Given the description of an element on the screen output the (x, y) to click on. 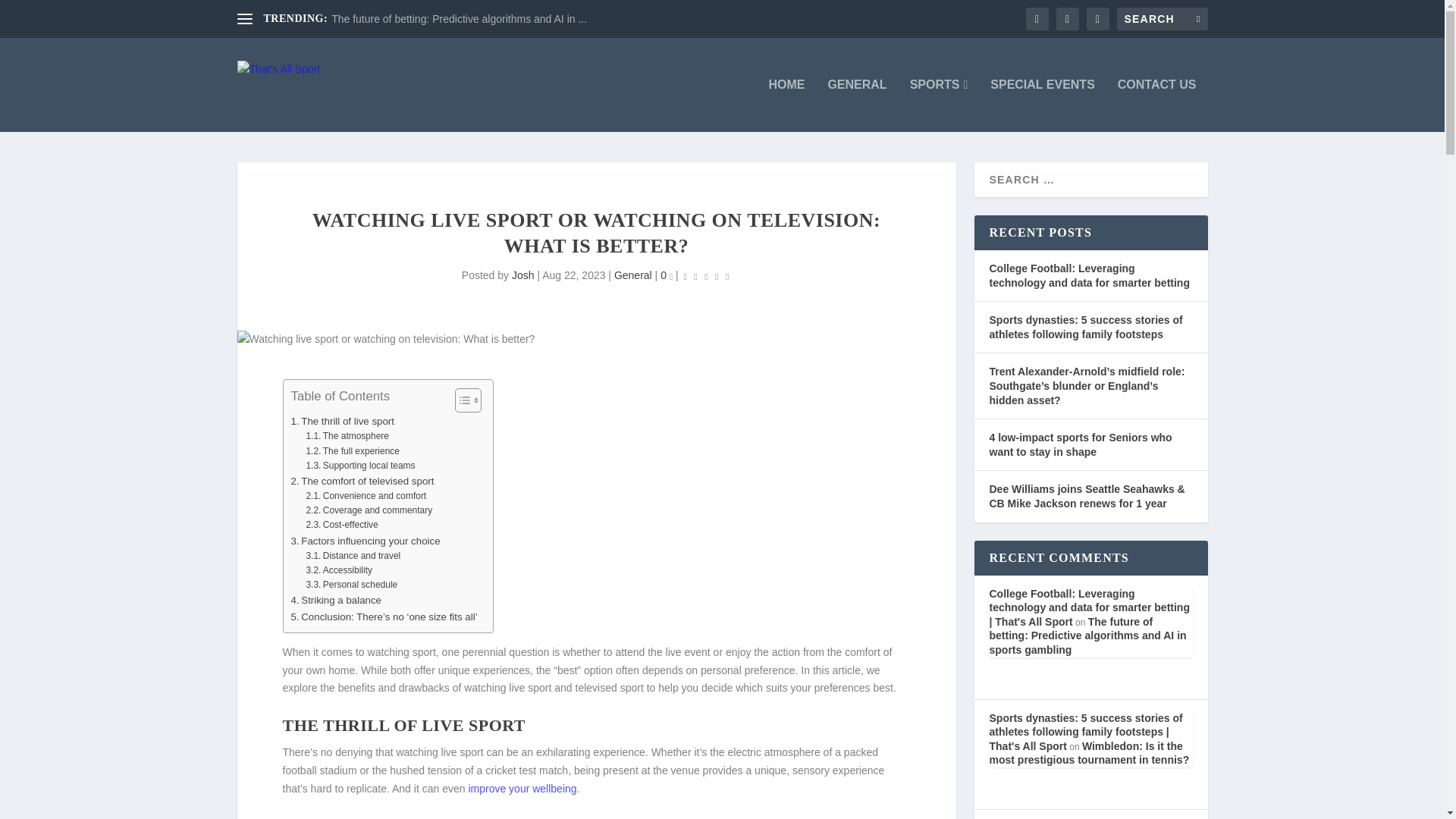
The comfort of televised sport (362, 480)
Cost-effective (341, 524)
SPECIAL EVENTS (1042, 104)
The thrill of live sport (342, 421)
The full experience (351, 451)
Supporting local teams (359, 465)
General (633, 275)
Convenience and comfort (365, 495)
Cost-effective (341, 524)
Josh (523, 275)
Distance and travel (352, 555)
Supporting local teams (359, 465)
The future of betting: Predictive algorithms and AI in ... (458, 19)
The comfort of televised sport (362, 480)
GENERAL (856, 104)
